Given the description of an element on the screen output the (x, y) to click on. 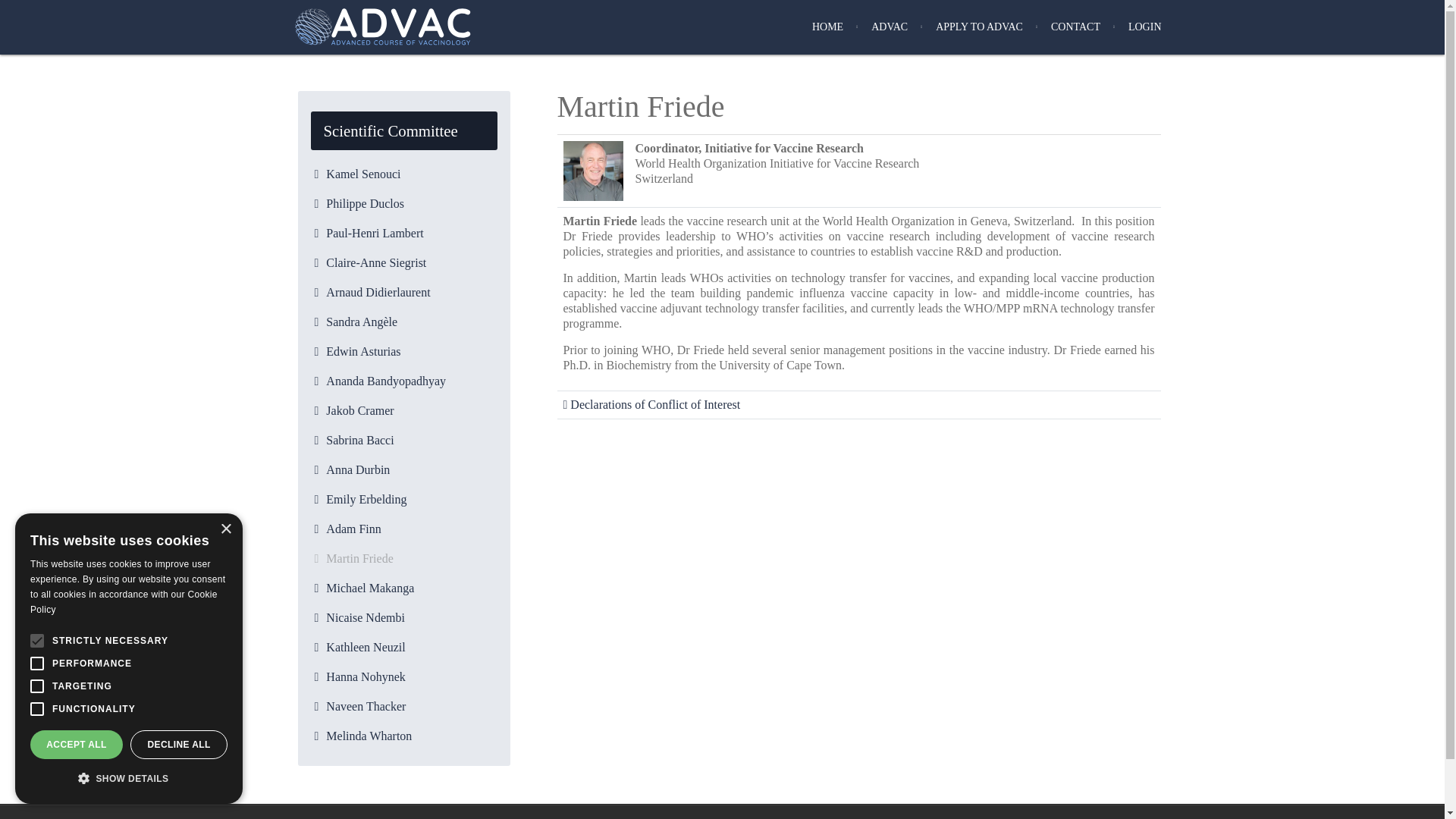
Philippe Duclos (403, 203)
LOGIN (1144, 27)
Martin Friede (403, 558)
Edwin Asturias (403, 351)
Nicaise Ndembi (403, 617)
ADVAC (889, 27)
Emily Erbelding (403, 499)
Claire-Anne Siegrist (403, 263)
Arnaud Didierlaurent (403, 292)
Kamel Senouci (403, 174)
Sabrina Bacci (403, 440)
Jakob Cramer (403, 411)
CONTACT (1075, 27)
APPLY TO ADVAC (978, 27)
Paul-Henri Lambert (403, 233)
